Given the description of an element on the screen output the (x, y) to click on. 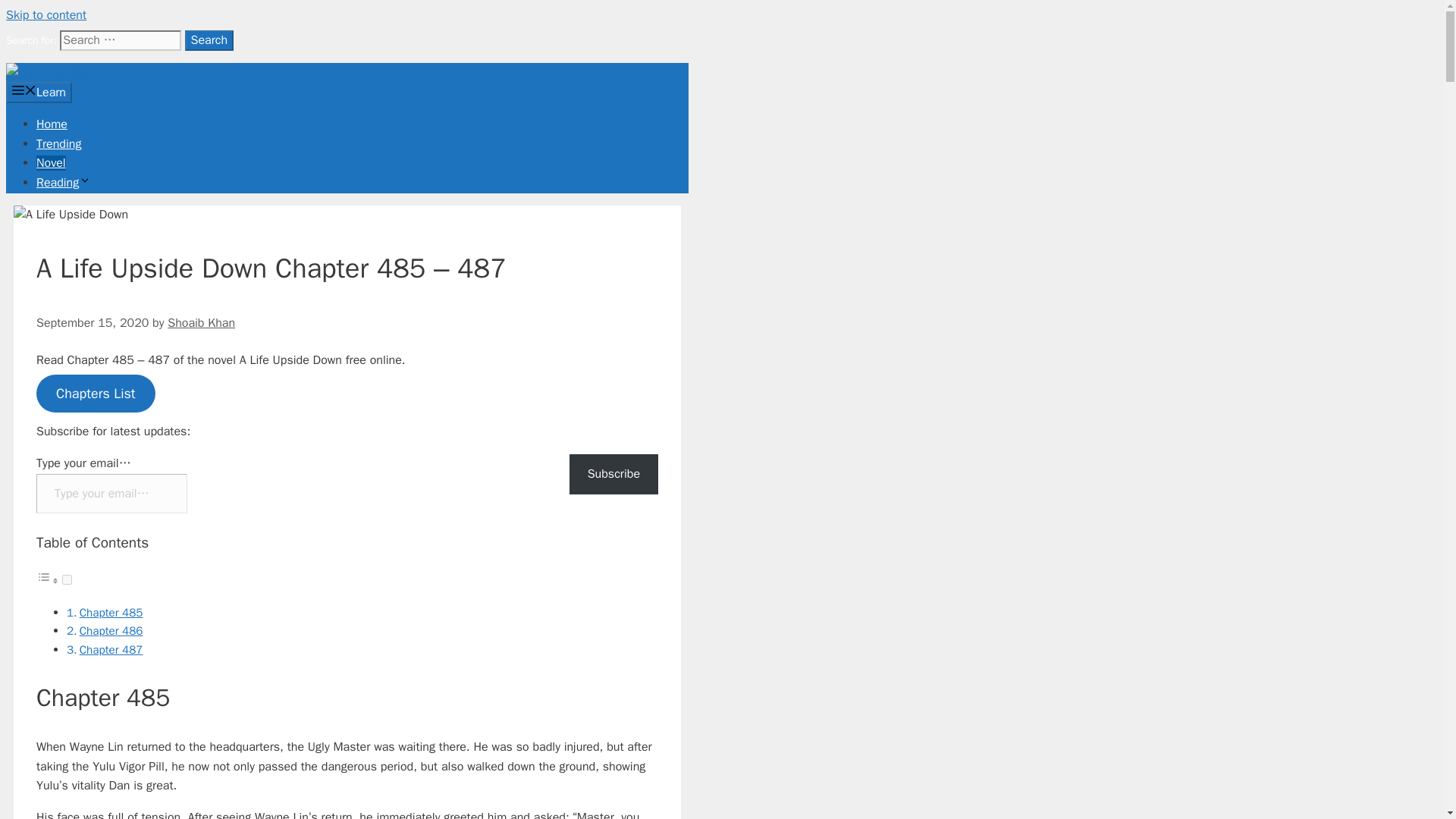
Skip to content (45, 14)
Learn TechME (49, 72)
Chapter 486 (111, 630)
Shoaib Khan (200, 322)
Search for: (119, 40)
on (66, 579)
Trending (58, 143)
Chapter 485 (111, 612)
Chapter 486 (111, 630)
Search (209, 40)
Chapter 485 (111, 612)
View all posts by Shoaib Khan (200, 322)
Please fill in this field. (111, 494)
Novel (50, 162)
Subscribe (613, 474)
